Given the description of an element on the screen output the (x, y) to click on. 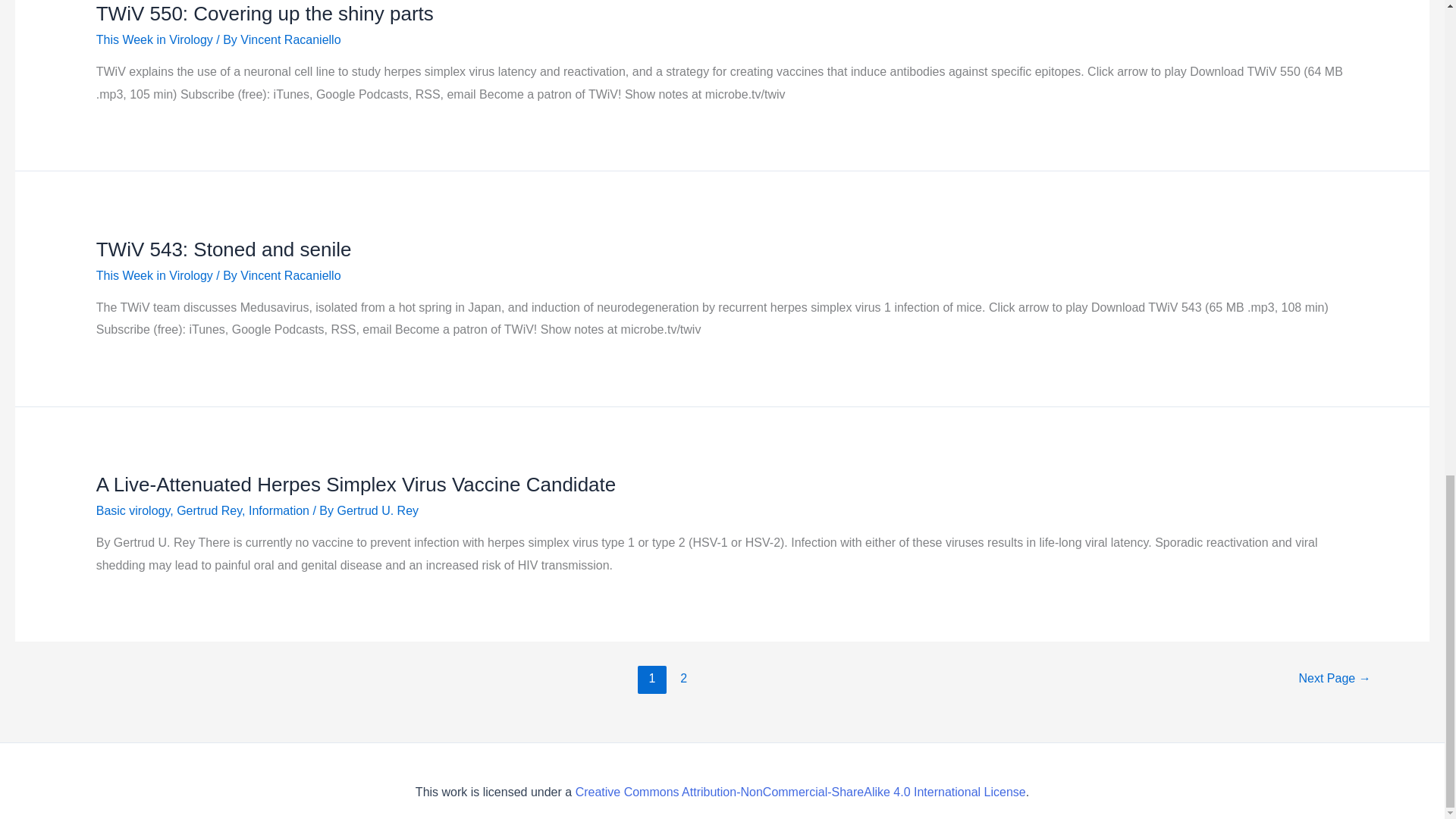
View all posts by Gertrud U. Rey (377, 510)
View all posts by Vincent Racaniello (290, 39)
View all posts by Vincent Racaniello (290, 275)
